Given the description of an element on the screen output the (x, y) to click on. 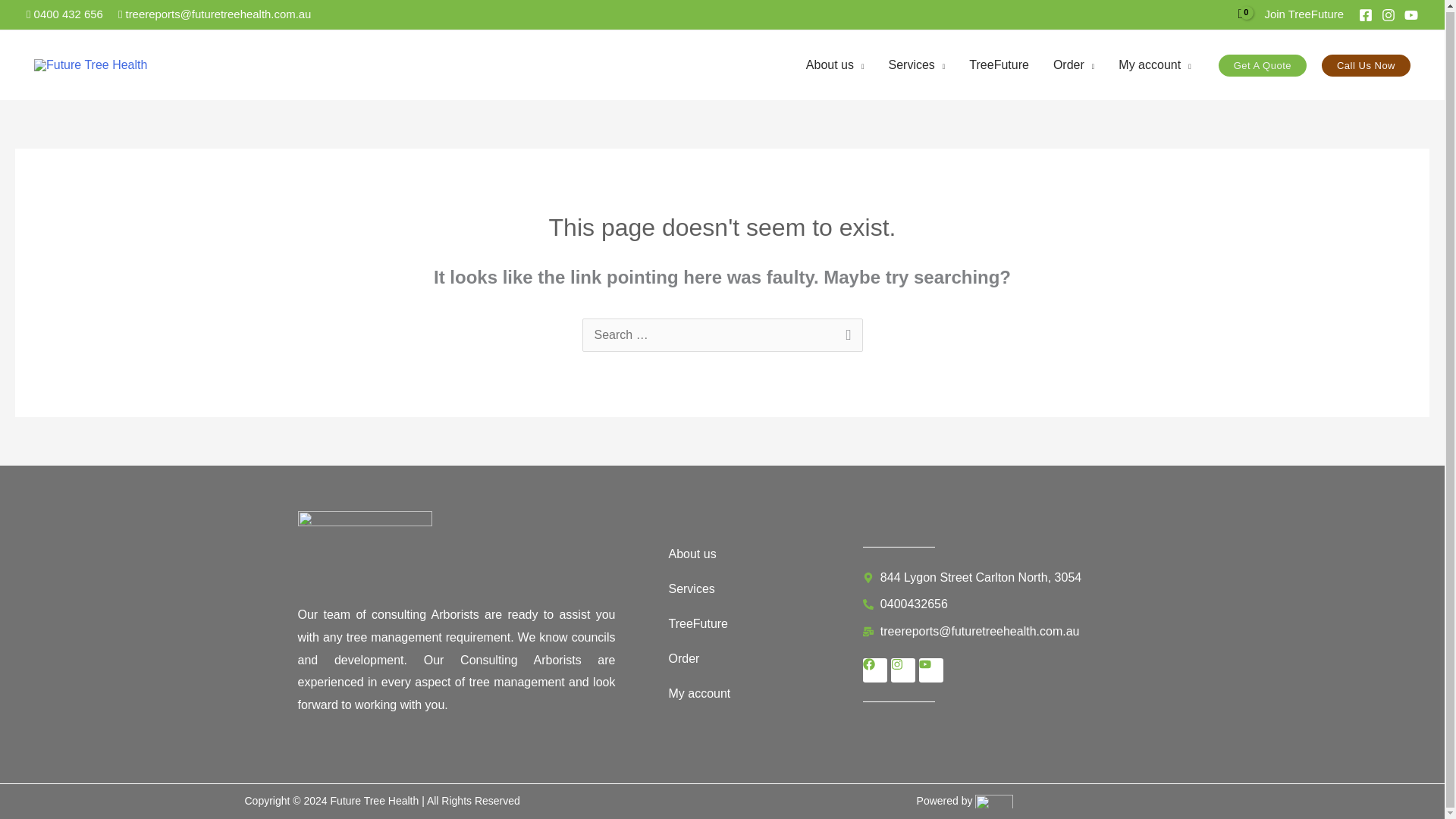
Join TreeFuture (1303, 13)
Services (916, 64)
Call Us Now (1366, 65)
About us (834, 64)
My account (1154, 64)
Get A Quote (1262, 65)
Order (1073, 64)
TreeFuture (998, 64)
 0400 432 656 (64, 13)
